Given the description of an element on the screen output the (x, y) to click on. 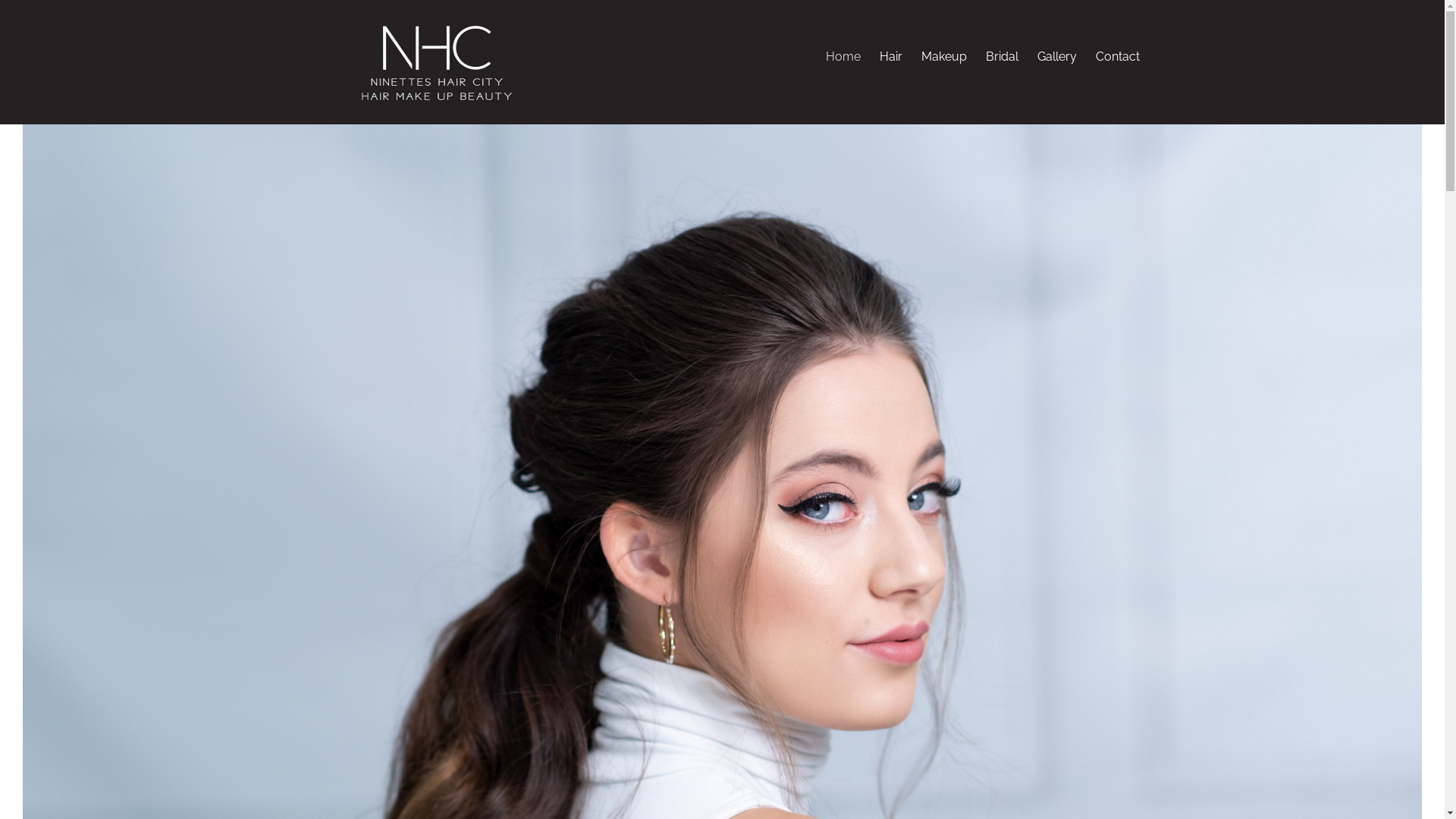
Home Element type: text (842, 56)
Bridal Element type: text (1001, 56)
Makeup Element type: text (943, 56)
Contact Element type: text (1117, 56)
Hair Element type: text (890, 56)
Gallery Element type: text (1056, 56)
